Given the description of an element on the screen output the (x, y) to click on. 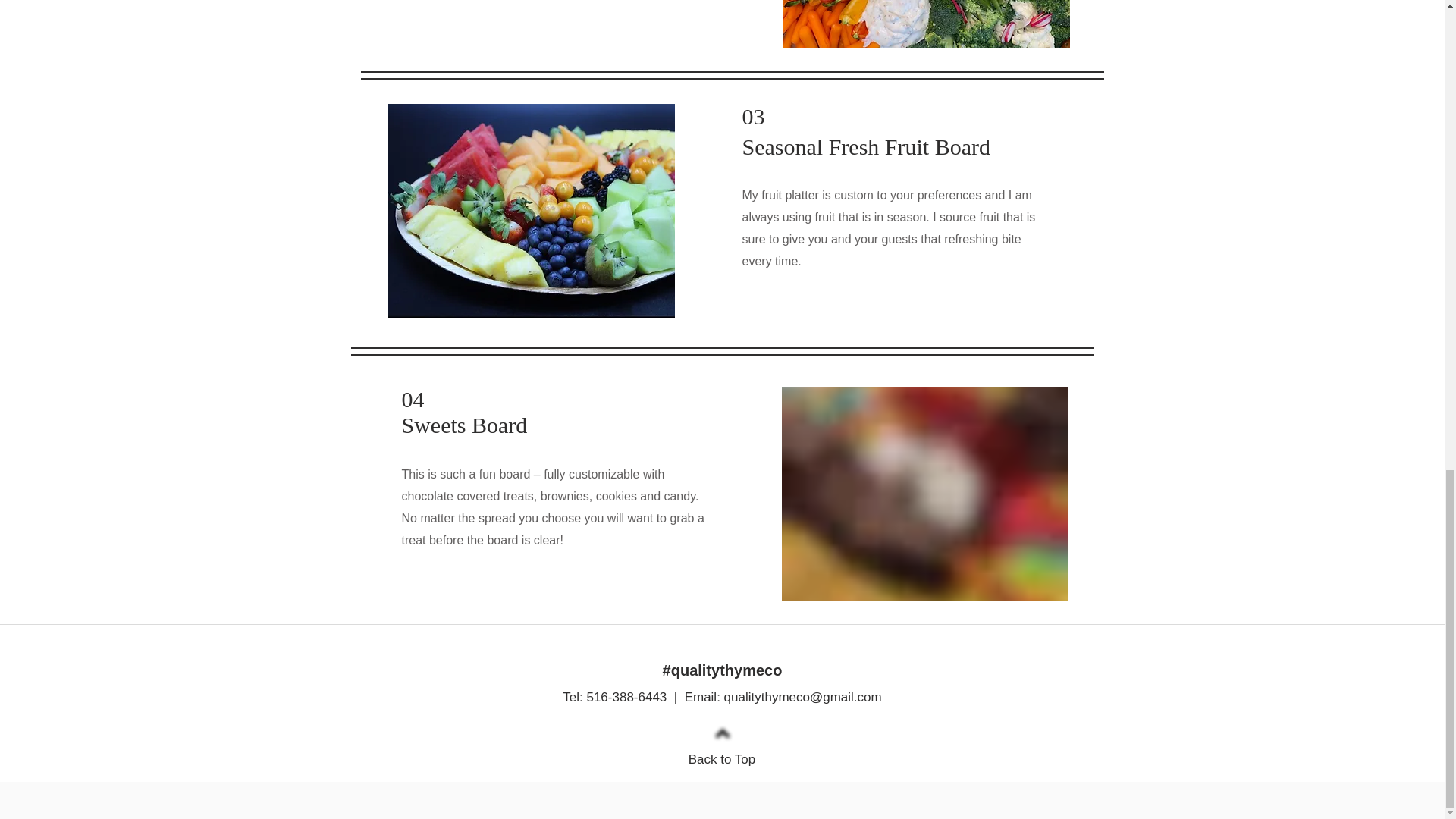
Back to Top (721, 759)
